Given the description of an element on the screen output the (x, y) to click on. 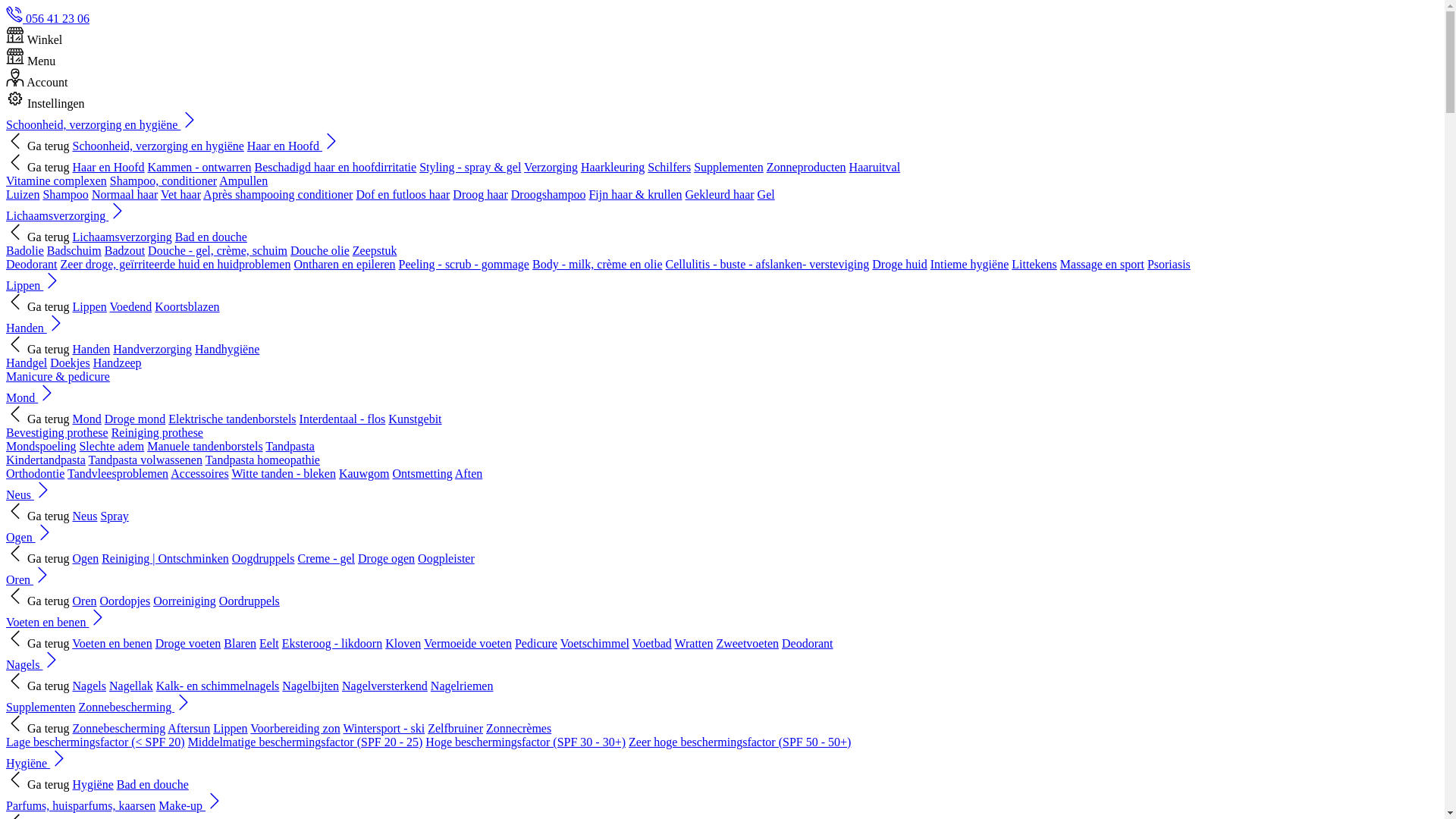
Ga terug Element type: text (37, 643)
Oordruppels Element type: text (249, 600)
Handen Element type: text (35, 327)
Ga terug Element type: text (37, 515)
Lage beschermingsfactor (< SPF 20) Element type: text (95, 741)
Kloven Element type: text (402, 643)
Hoge beschermingsfactor (SPF 30 - 30+) Element type: text (525, 741)
Bad en douche Element type: text (211, 236)
Supplementen Element type: text (40, 706)
Doekjes Element type: text (69, 362)
Creme - gel Element type: text (325, 558)
Ga terug Element type: text (37, 348)
Zweetvoeten Element type: text (746, 643)
Mond Element type: text (31, 397)
Vitamine complexen Element type: text (56, 180)
Shampoo, conditioner Element type: text (162, 180)
Haarkleuring Element type: text (612, 166)
Deodorant Element type: text (31, 263)
Eksteroog - likdoorn Element type: text (332, 643)
Mondspoeling Element type: text (40, 445)
Ga terug Element type: text (37, 166)
Peeling - scrub - gommage Element type: text (463, 263)
Tandpasta homeopathie Element type: text (262, 459)
Kammen - ontwarren Element type: text (199, 166)
Kunstgebit Element type: text (414, 418)
Voorbereiding zon Element type: text (294, 727)
Badschuim Element type: text (74, 250)
Droge voeten Element type: text (188, 643)
Nagelriemen Element type: text (461, 685)
Neus Element type: text (84, 515)
Haar en Hoofd Element type: text (108, 166)
Nagelbijten Element type: text (310, 685)
Luizen Element type: text (22, 194)
Nagels Element type: text (89, 685)
Cellulitis - buste - afslanken- versteviging Element type: text (767, 263)
Droge ogen Element type: text (385, 558)
Orthodontie Element type: text (35, 473)
Zonneproducten Element type: text (806, 166)
Ga terug Element type: text (37, 236)
Bevestiging prothese Element type: text (57, 432)
Wintersport - ski Element type: text (383, 727)
Spray Element type: text (114, 515)
Oren Element type: text (84, 600)
Reiniging | Ontschminken Element type: text (165, 558)
Ontharen en epileren Element type: text (344, 263)
Ga terug Element type: text (37, 558)
Blaren Element type: text (239, 643)
Voetschimmel Element type: text (594, 643)
Douche olie Element type: text (319, 250)
Supplementen Element type: text (728, 166)
Handzeep Element type: text (117, 362)
Mond Element type: text (86, 418)
Manicure & pedicure Element type: text (57, 376)
Nagelversterkend Element type: text (384, 685)
Gel Element type: text (766, 194)
Pedicure Element type: text (535, 643)
056 41 23 06 Element type: text (47, 18)
Neus Element type: text (29, 494)
Zeepstuk Element type: text (374, 250)
Dof en futloos haar Element type: text (402, 194)
Tandpasta Element type: text (289, 445)
Badolie Element type: text (24, 250)
Ga terug Element type: text (37, 685)
Shampoo Element type: text (64, 194)
Droogshampoo Element type: text (548, 194)
Kindertandpasta Element type: text (45, 459)
Zelfbruiner Element type: text (455, 727)
Ga terug Element type: text (37, 600)
Ogen Element type: text (29, 536)
Nagels Element type: text (33, 664)
Zonnebescherming Element type: text (135, 706)
Vermoeide voeten Element type: text (467, 643)
Deodorant Element type: text (807, 643)
Make-up Element type: text (190, 805)
Vet haar Element type: text (180, 194)
Littekens Element type: text (1034, 263)
Lichaamsverzorging Element type: text (66, 215)
Parfums, huisparfums, kaarsen Element type: text (80, 805)
Middelmatige beschermingsfactor (SPF 20 - 25) Element type: text (305, 741)
Zeer hoge beschermingsfactor (SPF 50 - 50+) Element type: text (739, 741)
Haar en Hoofd Element type: text (293, 145)
Oorreiniging Element type: text (184, 600)
Handen Element type: text (91, 348)
Verzorging Element type: text (550, 166)
Fijn haar & krullen Element type: text (634, 194)
Massage en sport Element type: text (1102, 263)
Oogpleister Element type: text (445, 558)
Ga terug Element type: text (37, 306)
Droog haar Element type: text (479, 194)
Bad en douche Element type: text (152, 784)
Zonnebescherming Element type: text (119, 727)
Interdentaal - flos Element type: text (342, 418)
Voeten en benen Element type: text (56, 621)
Gekleurd haar Element type: text (719, 194)
Voeten en benen Element type: text (111, 643)
Oordopjes Element type: text (125, 600)
Normaal haar Element type: text (124, 194)
Badzout Element type: text (124, 250)
Haaruitval Element type: text (874, 166)
Ga terug Element type: text (37, 145)
Wratten Element type: text (693, 643)
Lippen Element type: text (230, 727)
Ontsmetting Element type: text (422, 473)
Oren Element type: text (28, 579)
Tandpasta volwassenen Element type: text (145, 459)
Aftersun Element type: text (188, 727)
Witte tanden - bleken Element type: text (283, 473)
Tandvleesproblemen Element type: text (117, 473)
Styling - spray & gel Element type: text (469, 166)
Eelt Element type: text (269, 643)
Ampullen Element type: text (243, 180)
Voedend Element type: text (130, 306)
Ogen Element type: text (85, 558)
Koortsblazen Element type: text (186, 306)
Lippen Element type: text (89, 306)
Lippen Element type: text (33, 285)
Kalk- en schimmelnagels Element type: text (217, 685)
Manuele tandenborstels Element type: text (204, 445)
Ga terug Element type: text (37, 784)
Beschadigd haar en hoofdirritatie Element type: text (335, 166)
Nagellak Element type: text (131, 685)
Schilfers Element type: text (668, 166)
Slechte adem Element type: text (111, 445)
Voetbad Element type: text (651, 643)
Aften Element type: text (468, 473)
Droge mond Element type: text (134, 418)
Psoriasis Element type: text (1168, 263)
Ga terug Element type: text (37, 418)
Handverzorging Element type: text (151, 348)
Oogdruppels Element type: text (263, 558)
Elektrische tandenborstels Element type: text (231, 418)
Reiniging prothese Element type: text (157, 432)
Lichaamsverzorging Element type: text (122, 236)
Handgel Element type: text (26, 362)
Kauwgom Element type: text (363, 473)
Accessoires Element type: text (199, 473)
Ga terug Element type: text (37, 727)
Droge huid Element type: text (899, 263)
